Given the description of an element on the screen output the (x, y) to click on. 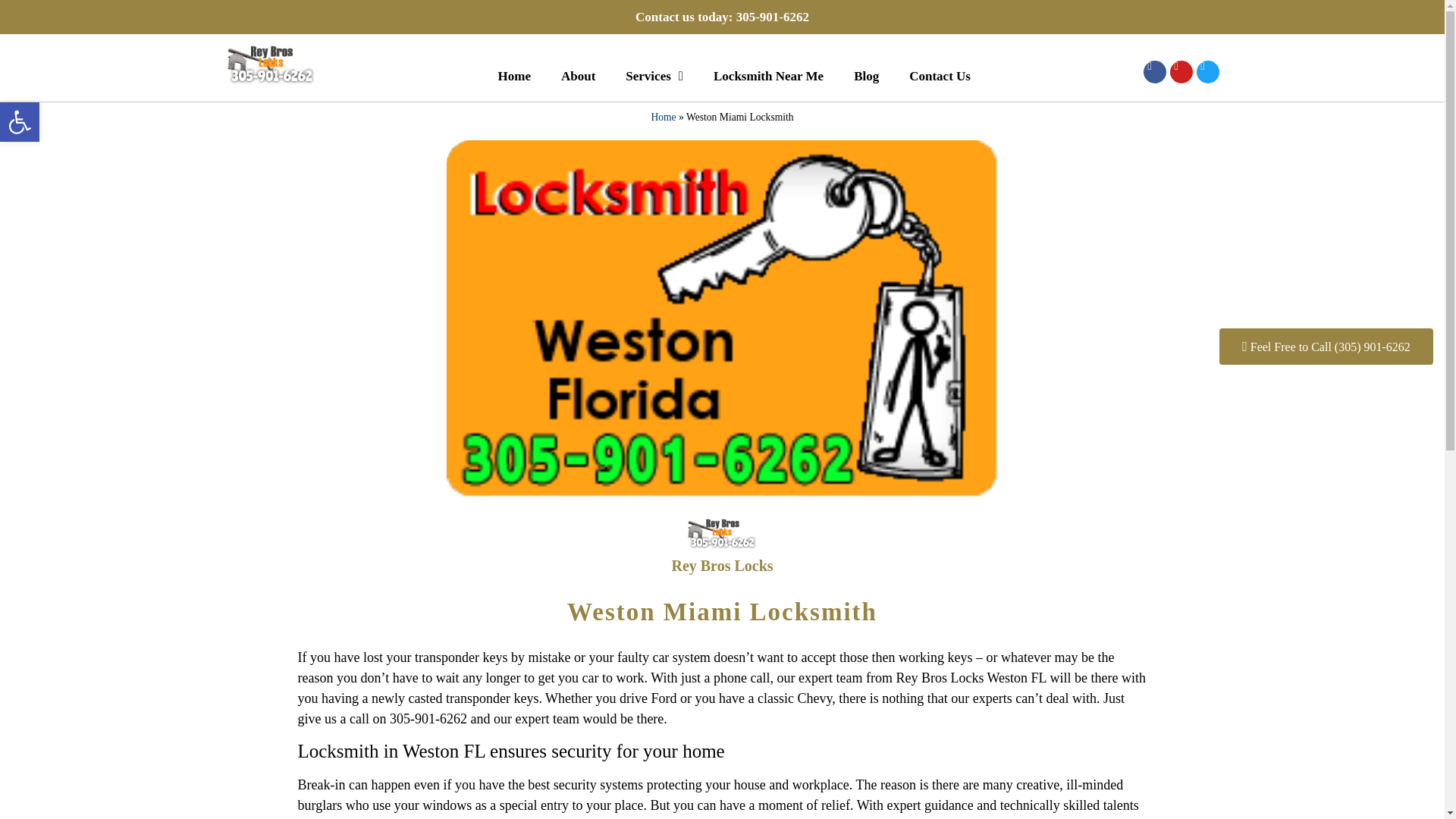
Locksmith Near Me (768, 76)
Home (514, 76)
About (578, 76)
Accessibility Tools (19, 121)
Contact Us (939, 76)
Services (654, 76)
Accessibility Tools (19, 121)
Blog (865, 76)
